Given the description of an element on the screen output the (x, y) to click on. 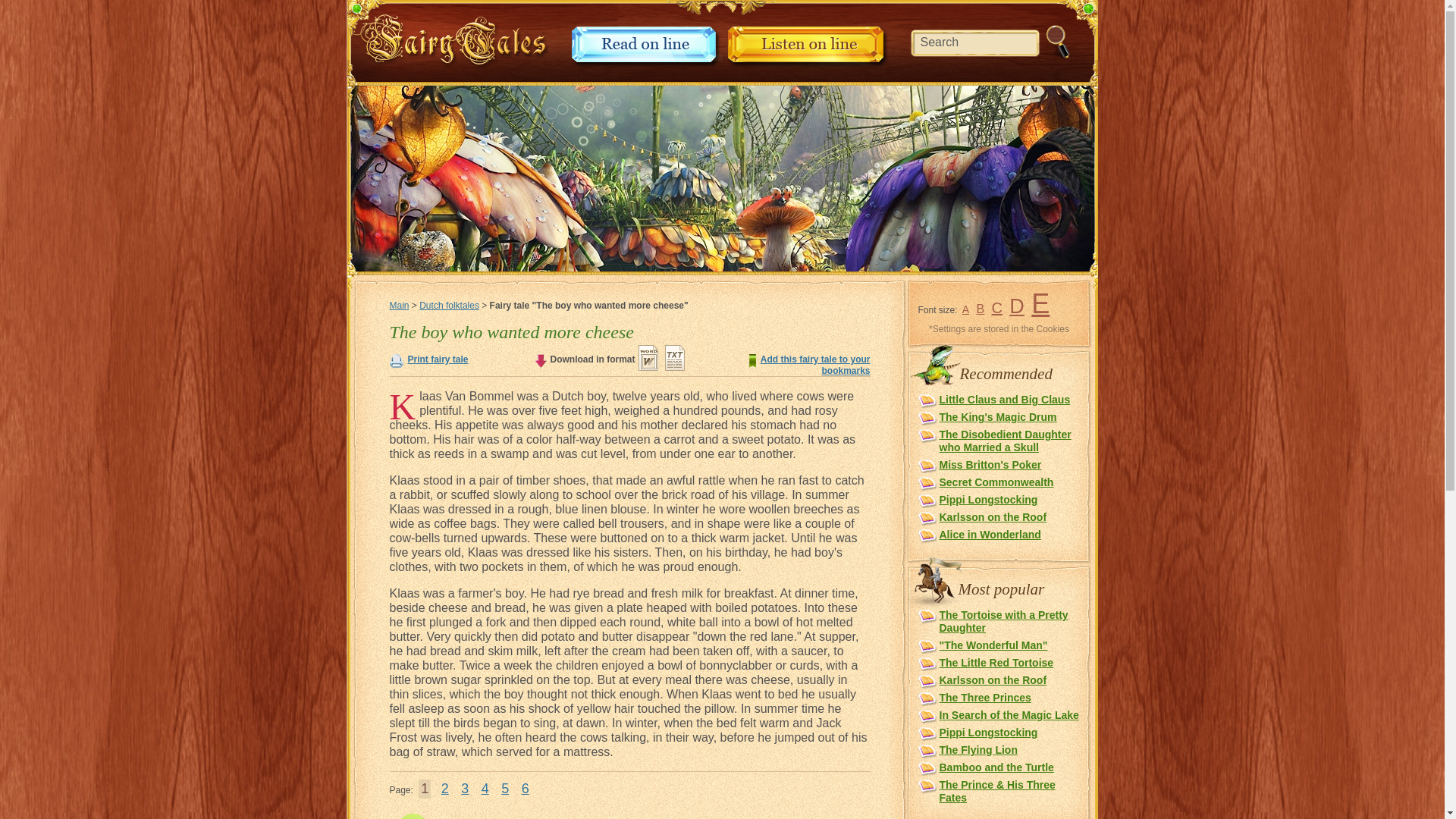
Search (995, 42)
The Tortoise with a Pretty Daughter (1003, 621)
Pippi Longstocking (987, 732)
Main (399, 305)
The Little Red Tortoise (995, 662)
Little Claus and Big Claus (1004, 399)
Print fairy tale (437, 358)
"The Wonderful Man" (992, 645)
The Disobedient Daughter who Married a Skull (1004, 440)
Pippi Longstocking (987, 499)
Secret Commonwealth (995, 481)
Read on line (646, 63)
Karlsson on the Roof (992, 680)
The King's Magic Drum (998, 417)
The Flying Lion (977, 749)
